Given the description of an element on the screen output the (x, y) to click on. 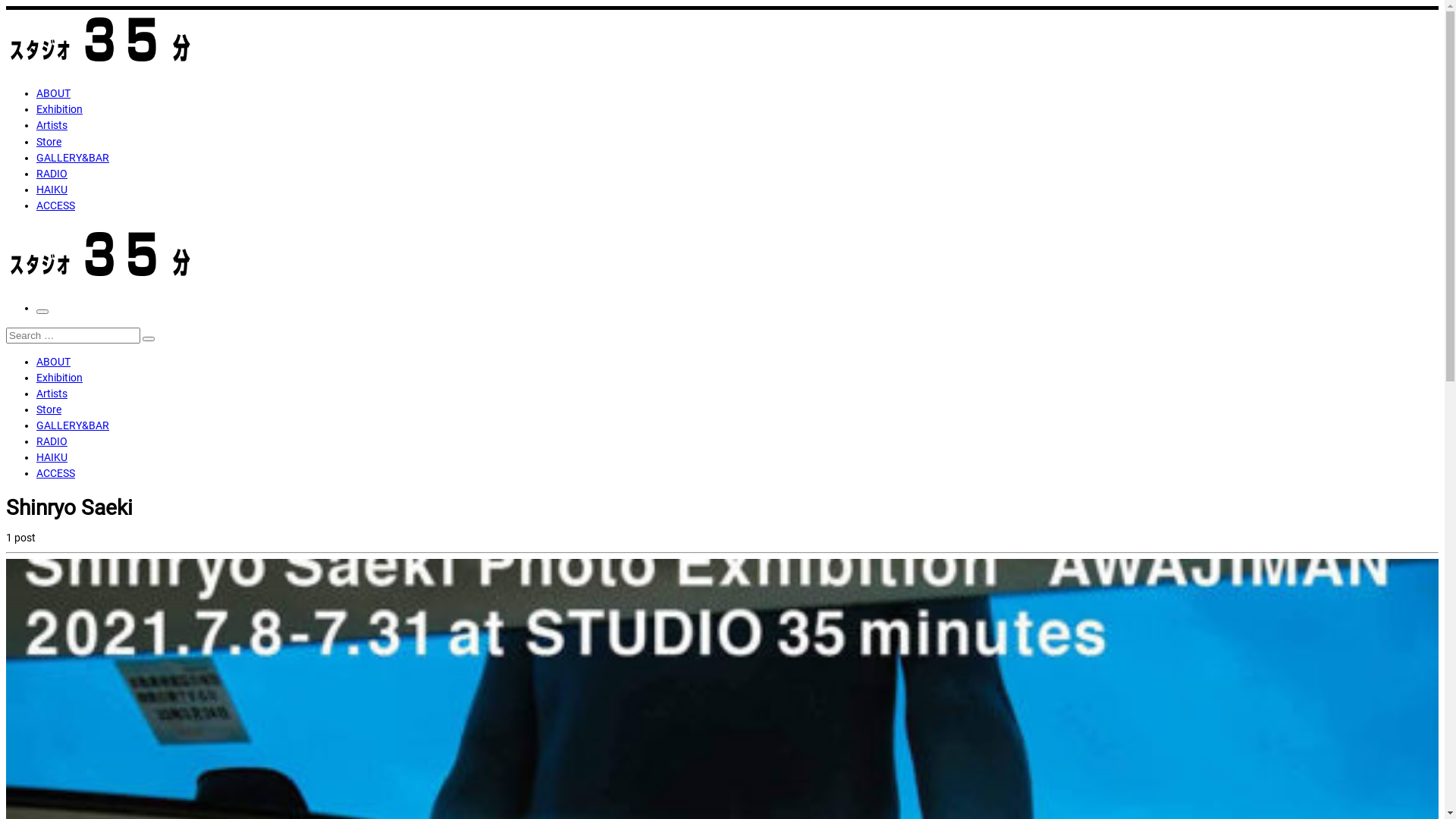
RADIO Element type: text (51, 441)
ACCESS Element type: text (55, 205)
Exhibition Element type: text (59, 377)
RADIO Element type: text (51, 173)
Skip to content Element type: text (5, 5)
Artists Element type: text (51, 125)
ABOUT Element type: text (53, 93)
GALLERY&BAR Element type: text (72, 157)
Store Element type: text (48, 141)
Artists Element type: text (51, 393)
ABOUT Element type: text (53, 361)
GALLERY&BAR Element type: text (72, 425)
HAIKU Element type: text (51, 189)
Store Element type: text (48, 409)
HAIKU Element type: text (51, 457)
Menu Element type: text (42, 311)
ACCESS Element type: text (55, 473)
Exhibition Element type: text (59, 109)
